Given the description of an element on the screen output the (x, y) to click on. 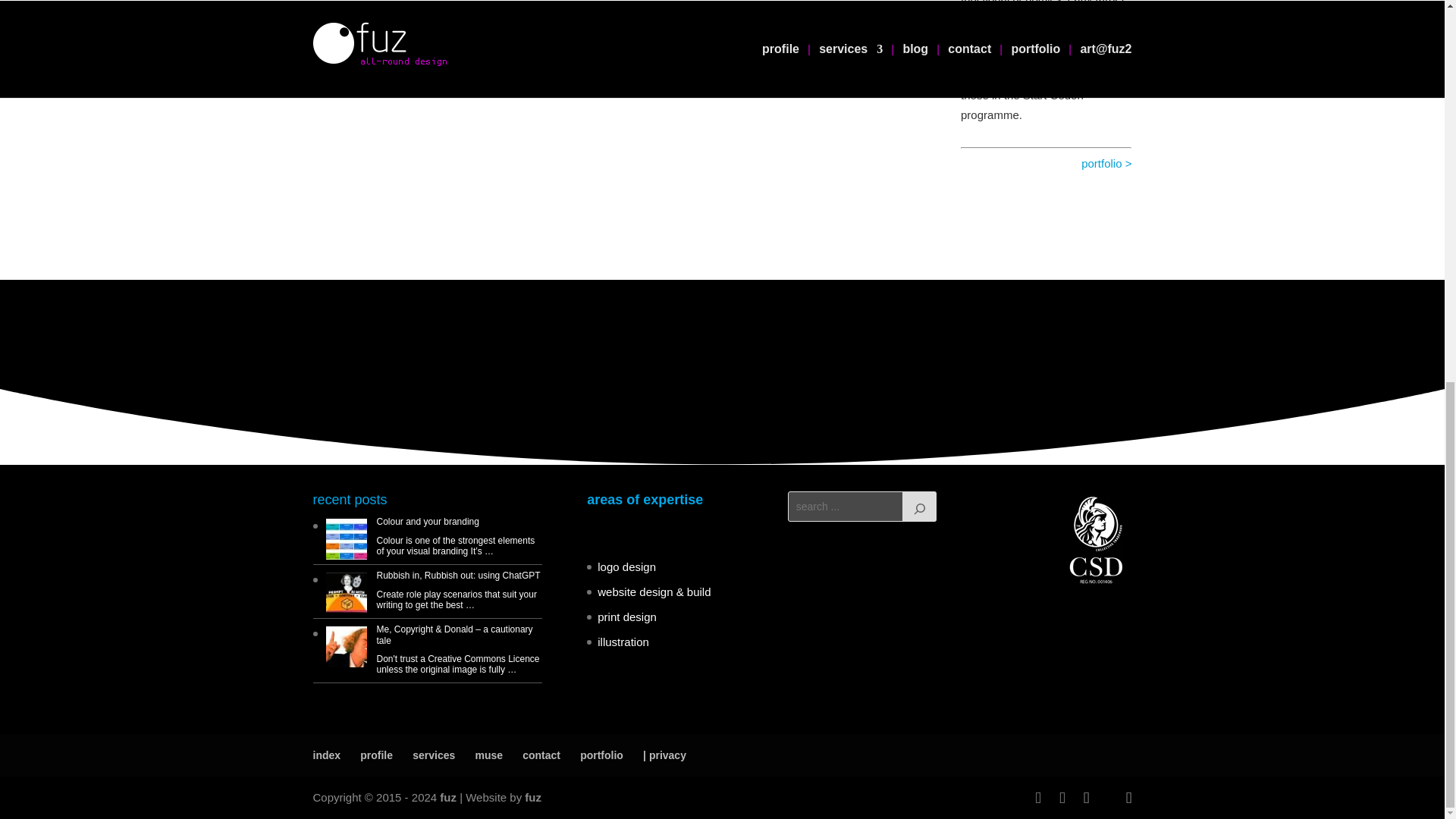
portfolio (601, 755)
muse (488, 755)
logo design (626, 566)
index (326, 755)
Rubbish in, Rubbish out: using ChatGPT (457, 575)
print design (626, 616)
profile (376, 755)
services (433, 755)
illustration (622, 641)
contact (541, 755)
